Given the description of an element on the screen output the (x, y) to click on. 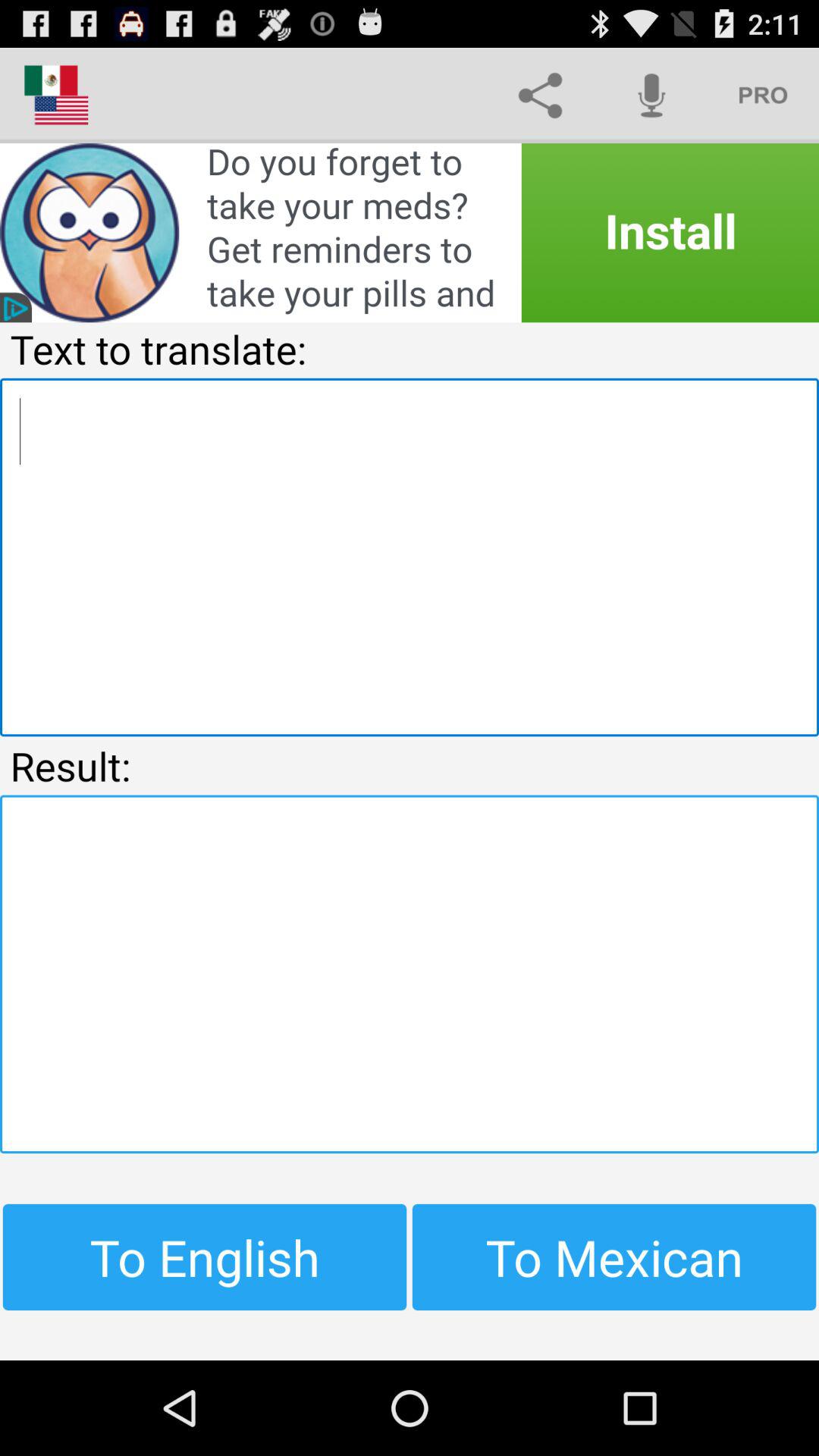
click icon to the right of the to english item (614, 1257)
